Given the description of an element on the screen output the (x, y) to click on. 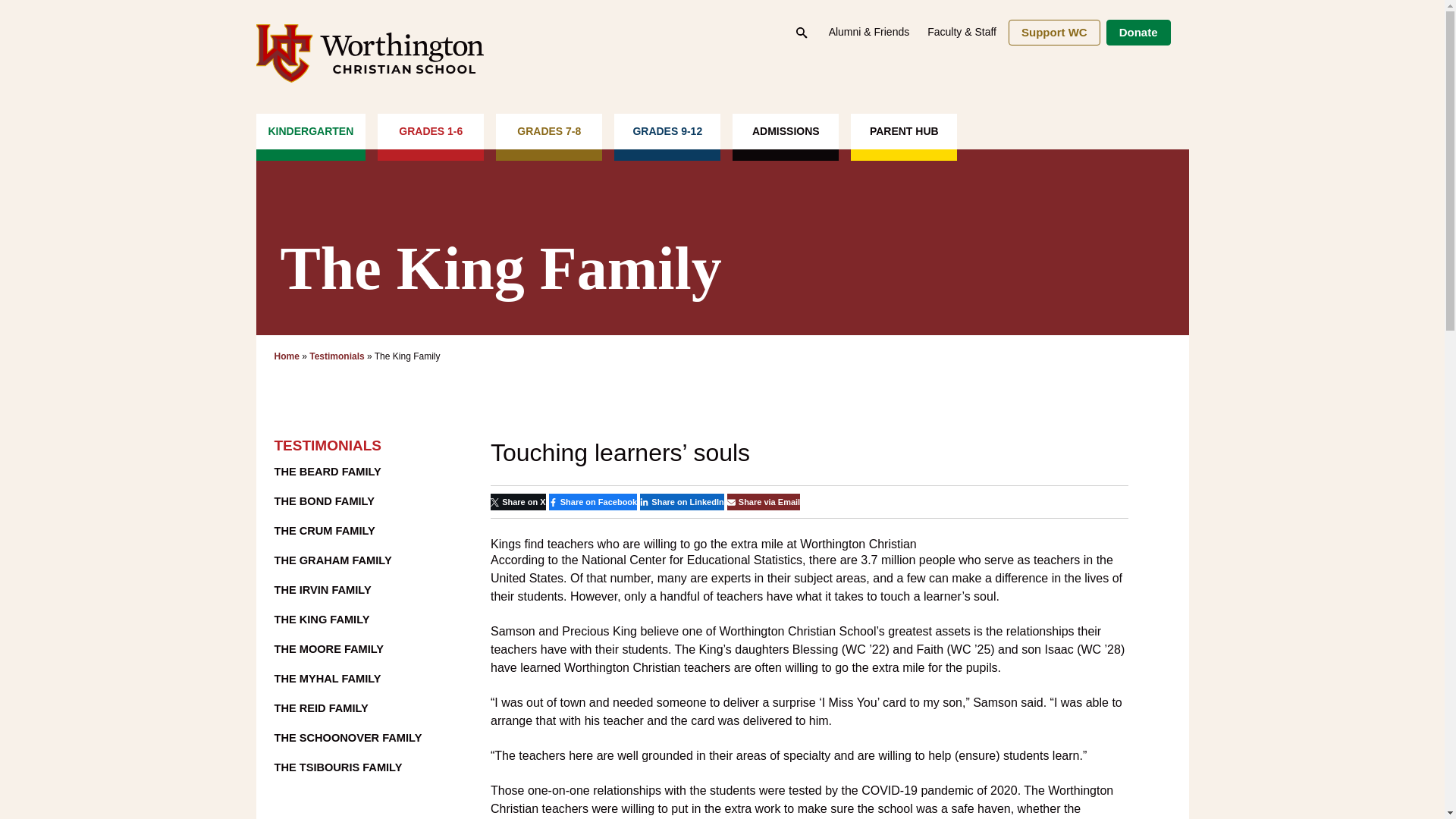
KINDERGARTEN (311, 136)
Go to Homepage. (287, 356)
Go to Testimonials. (336, 356)
Share on Facebook (592, 501)
GRADES 1-6 (430, 136)
GRADES 9-12 (667, 136)
Share via Email (762, 501)
Share on LinkedIn (681, 501)
Share on X (518, 501)
GRADES 7-8 (549, 136)
